Given the description of an element on the screen output the (x, y) to click on. 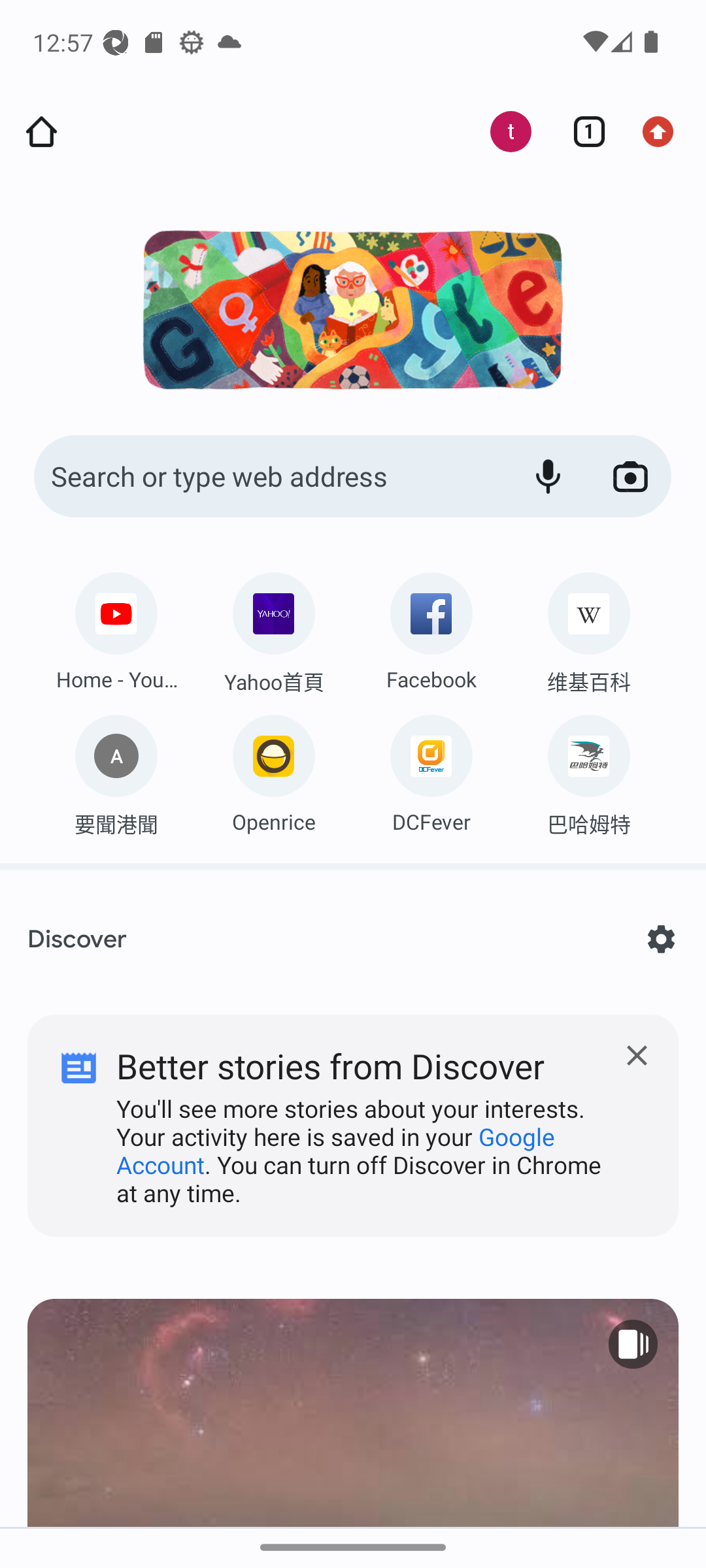
Home (41, 131)
Manage account (499, 131)
Switch or close tabs (582, 131)
Update available. More options (664, 131)
Google doodle: International Women's Day 2024 (352, 309)
Search or type web address (267, 476)
Start voice search (547, 476)
Search with your camera using Google Lens (629, 476)
Home - YouTube (116, 627)
Yahoo首頁 (273, 628)
Facebook (430, 627)
维基百科 (588, 628)
要聞港聞 (116, 768)
Openrice (273, 768)
DCFever (430, 768)
巴哈姆特 (588, 768)
Options for Discover (660, 938)
Dismiss (353, 1112)
Dismiss (636, 1055)
